Given the description of an element on the screen output the (x, y) to click on. 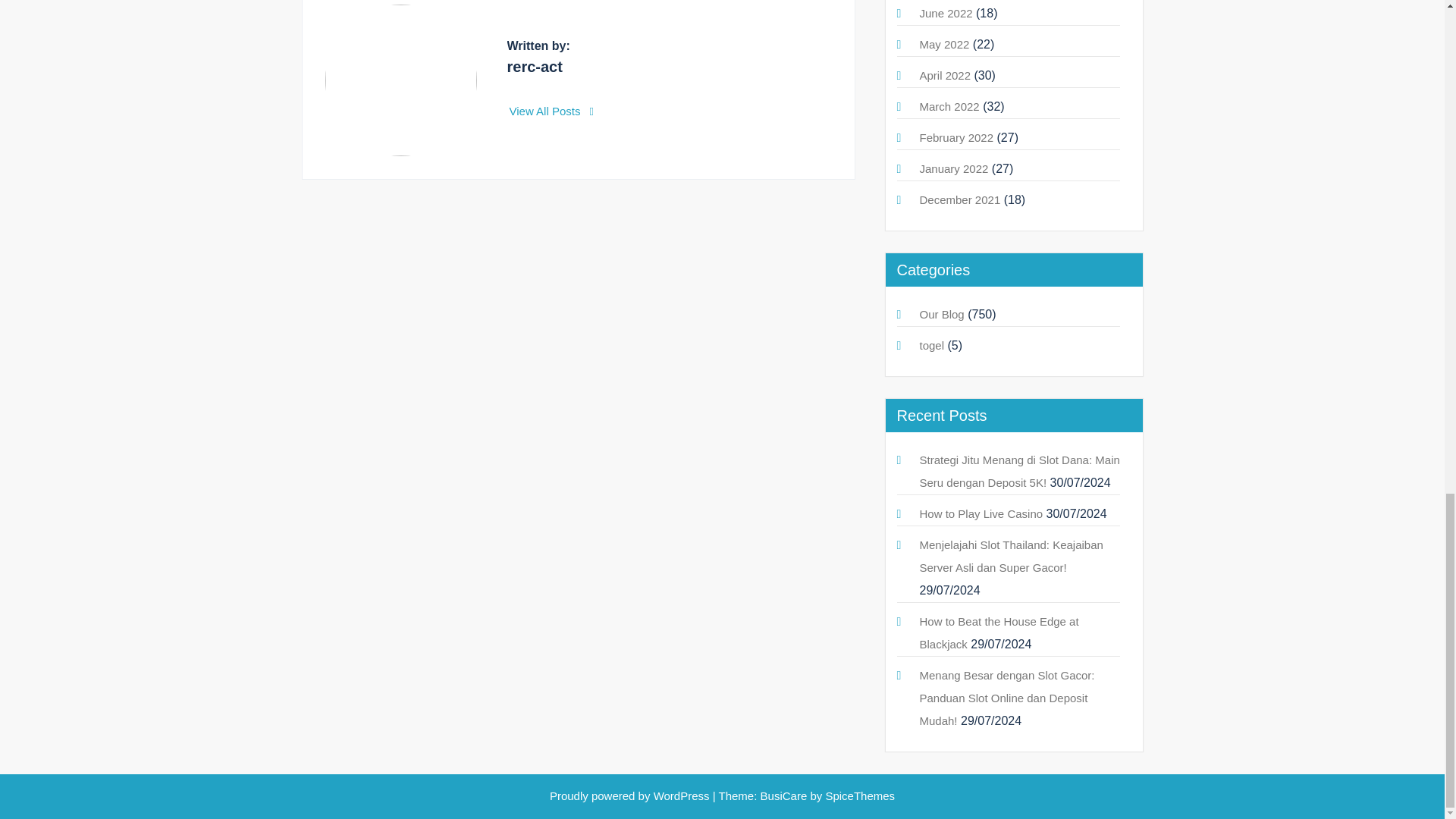
April 2022 (944, 74)
View All Posts (551, 110)
June 2022 (945, 12)
May 2022 (943, 43)
